Given the description of an element on the screen output the (x, y) to click on. 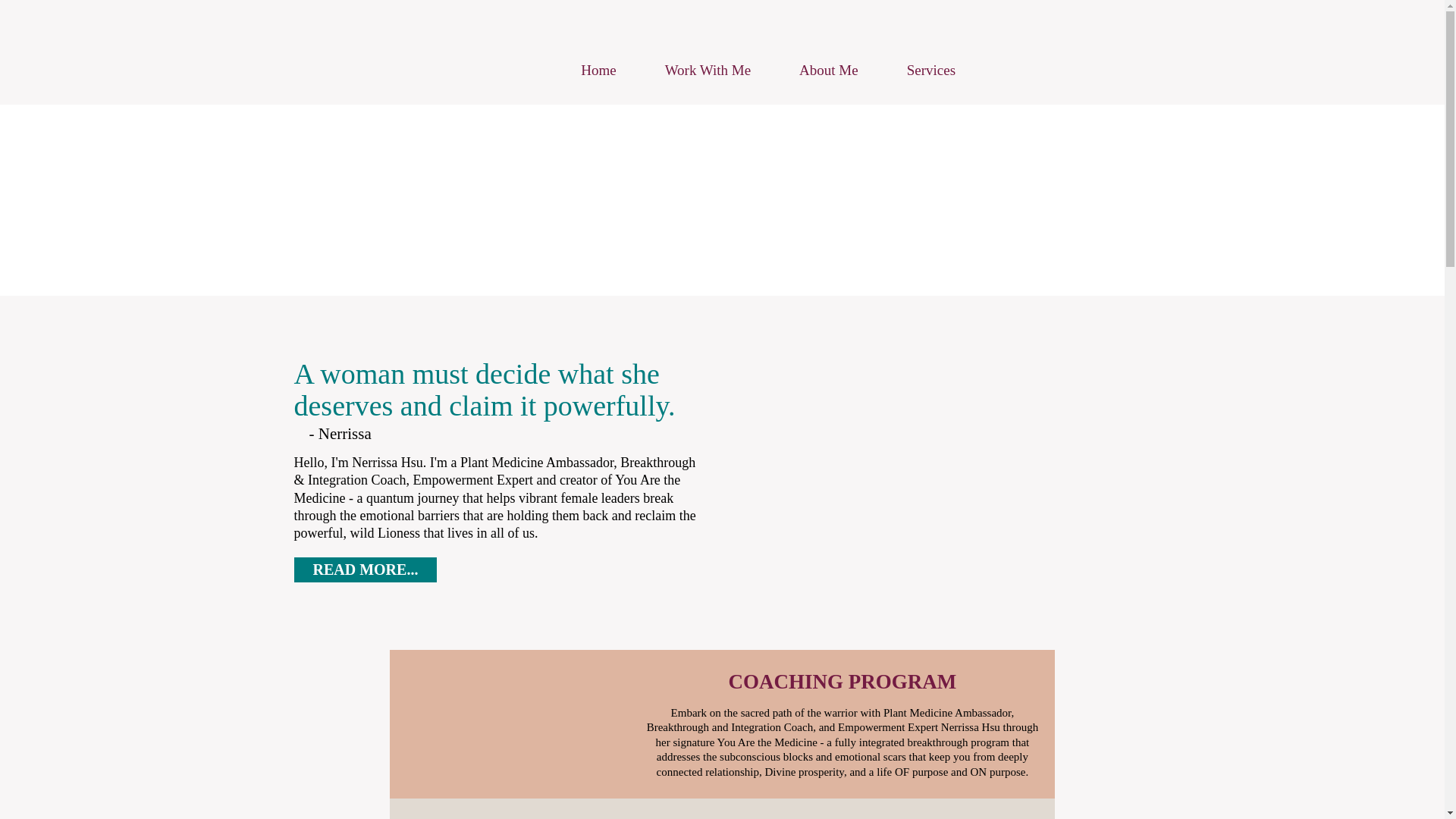
About Me (828, 70)
Home (598, 70)
Work With Me (707, 70)
READ MORE... (366, 569)
Services (930, 70)
